Given the description of an element on the screen output the (x, y) to click on. 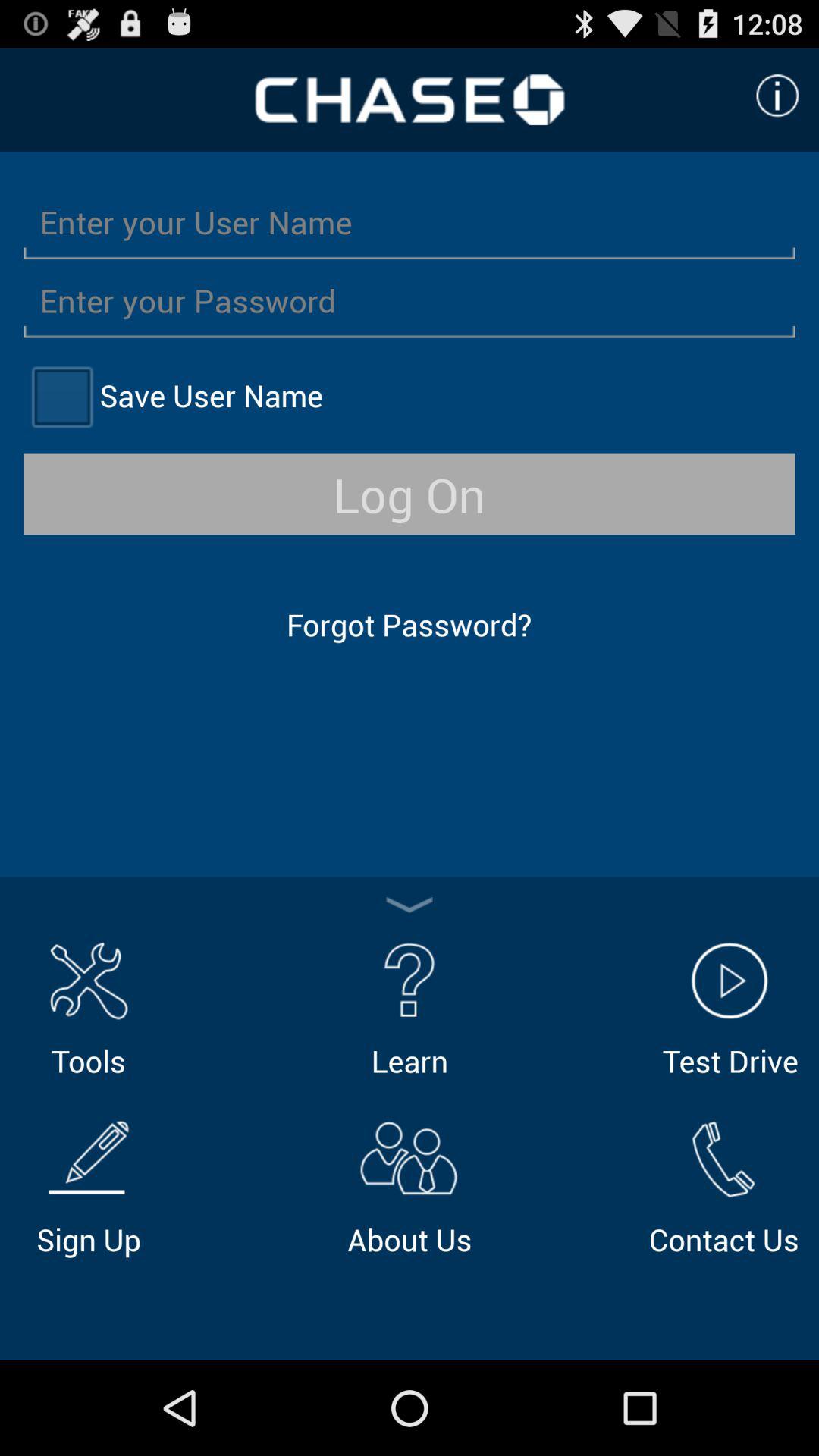
turn on the icon to the left of test drive item (409, 1006)
